Given the description of an element on the screen output the (x, y) to click on. 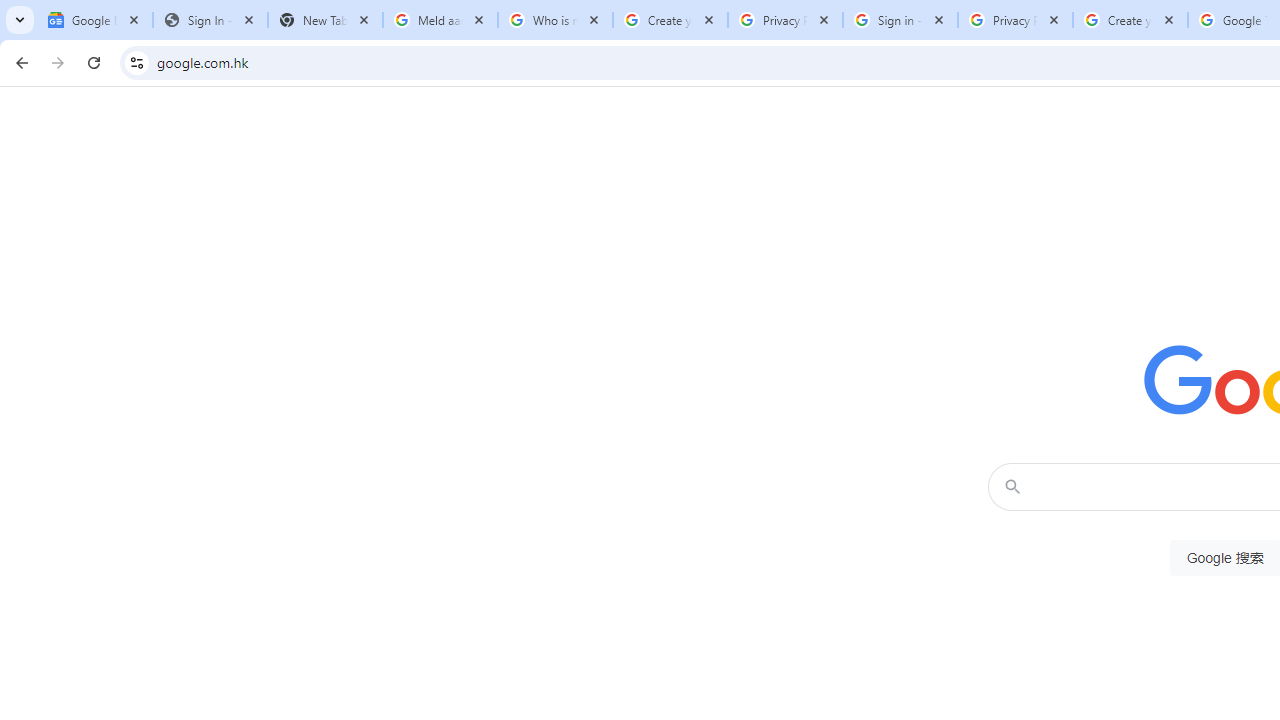
Sign in - Google Accounts (900, 20)
Create your Google Account (670, 20)
